Given the description of an element on the screen output the (x, y) to click on. 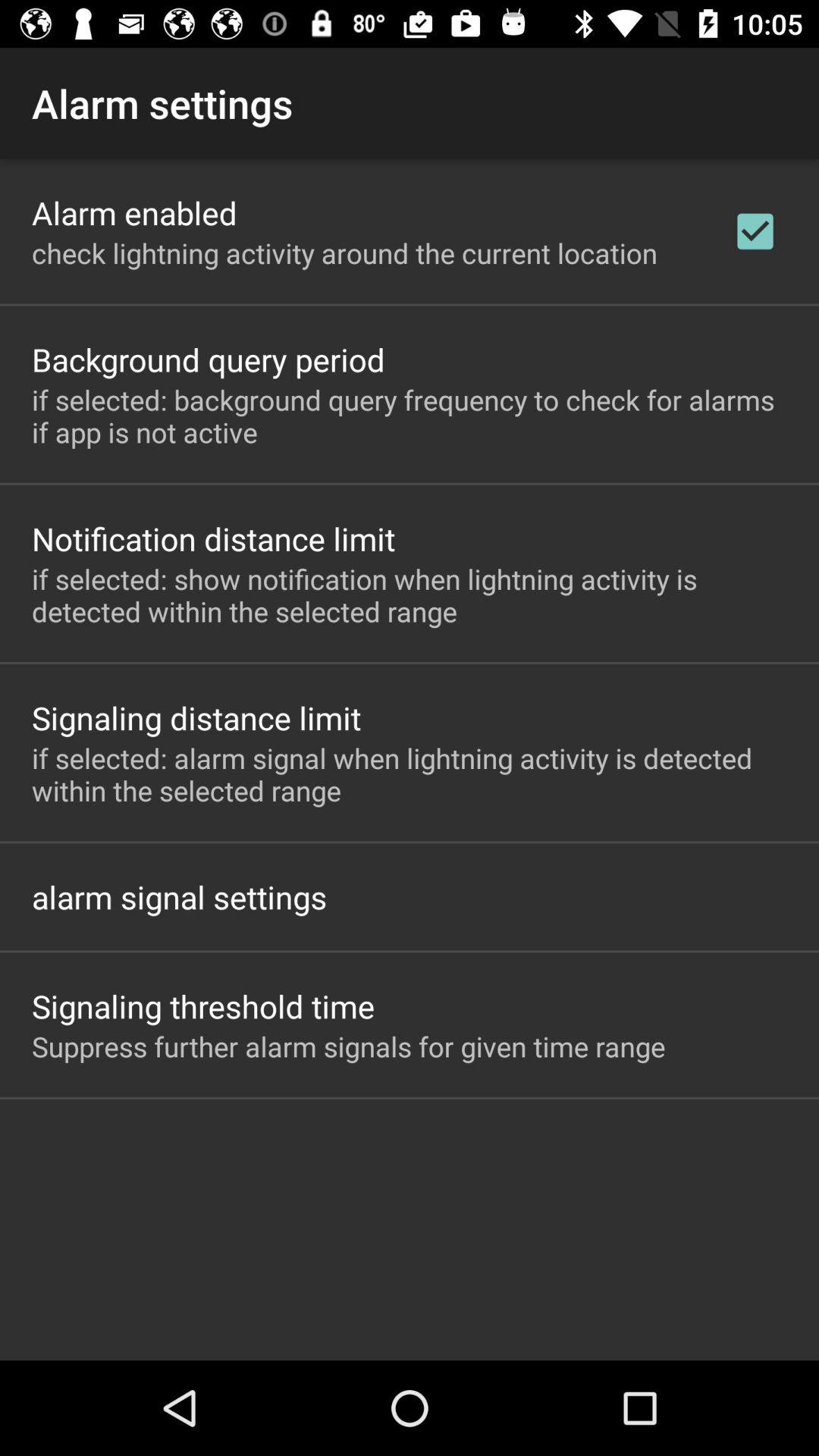
tap item above the check lightning activity item (134, 212)
